Given the description of an element on the screen output the (x, y) to click on. 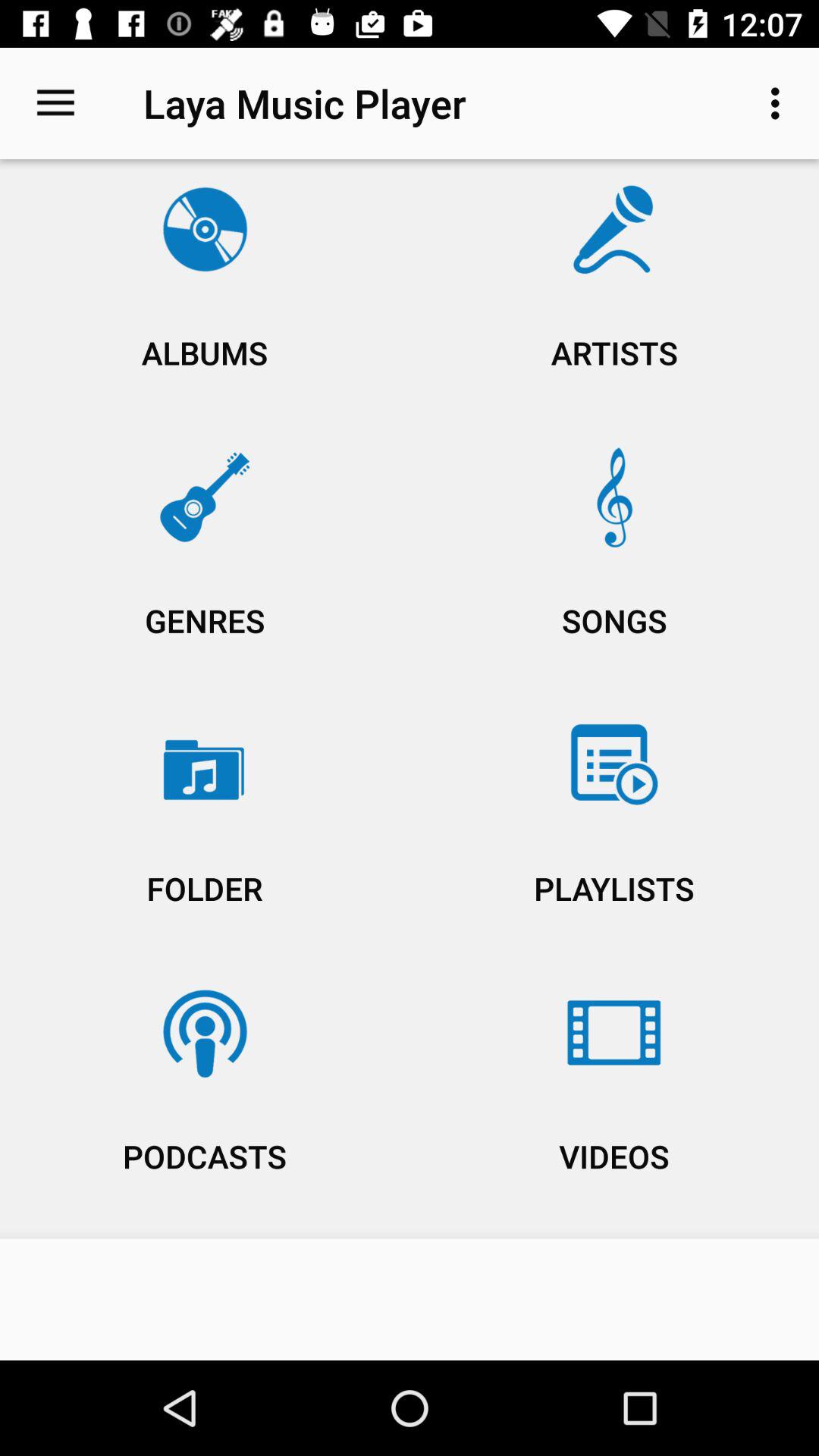
choose the item next to albums item (614, 565)
